Given the description of an element on the screen output the (x, y) to click on. 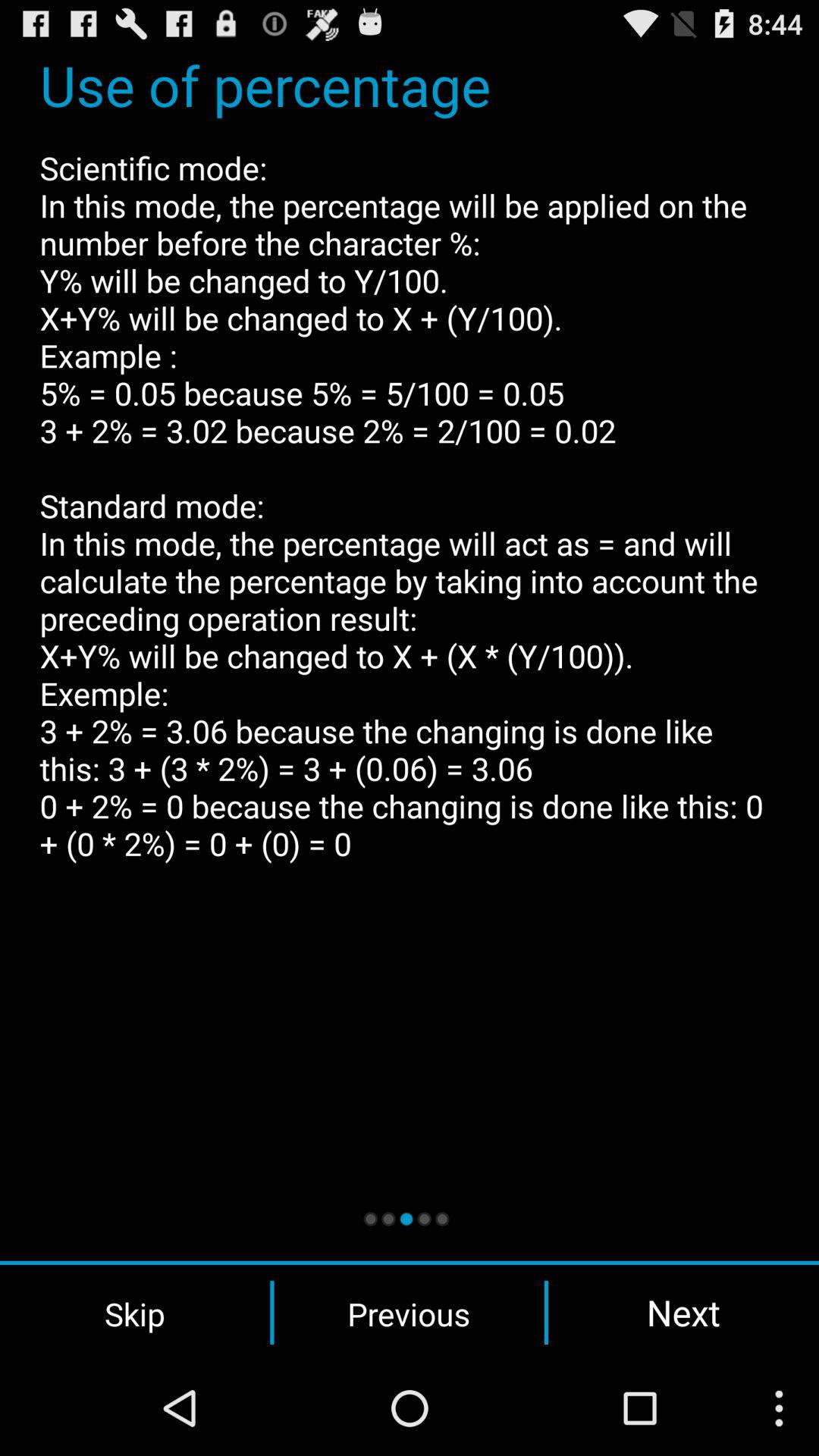
turn on next (683, 1312)
